Given the description of an element on the screen output the (x, y) to click on. 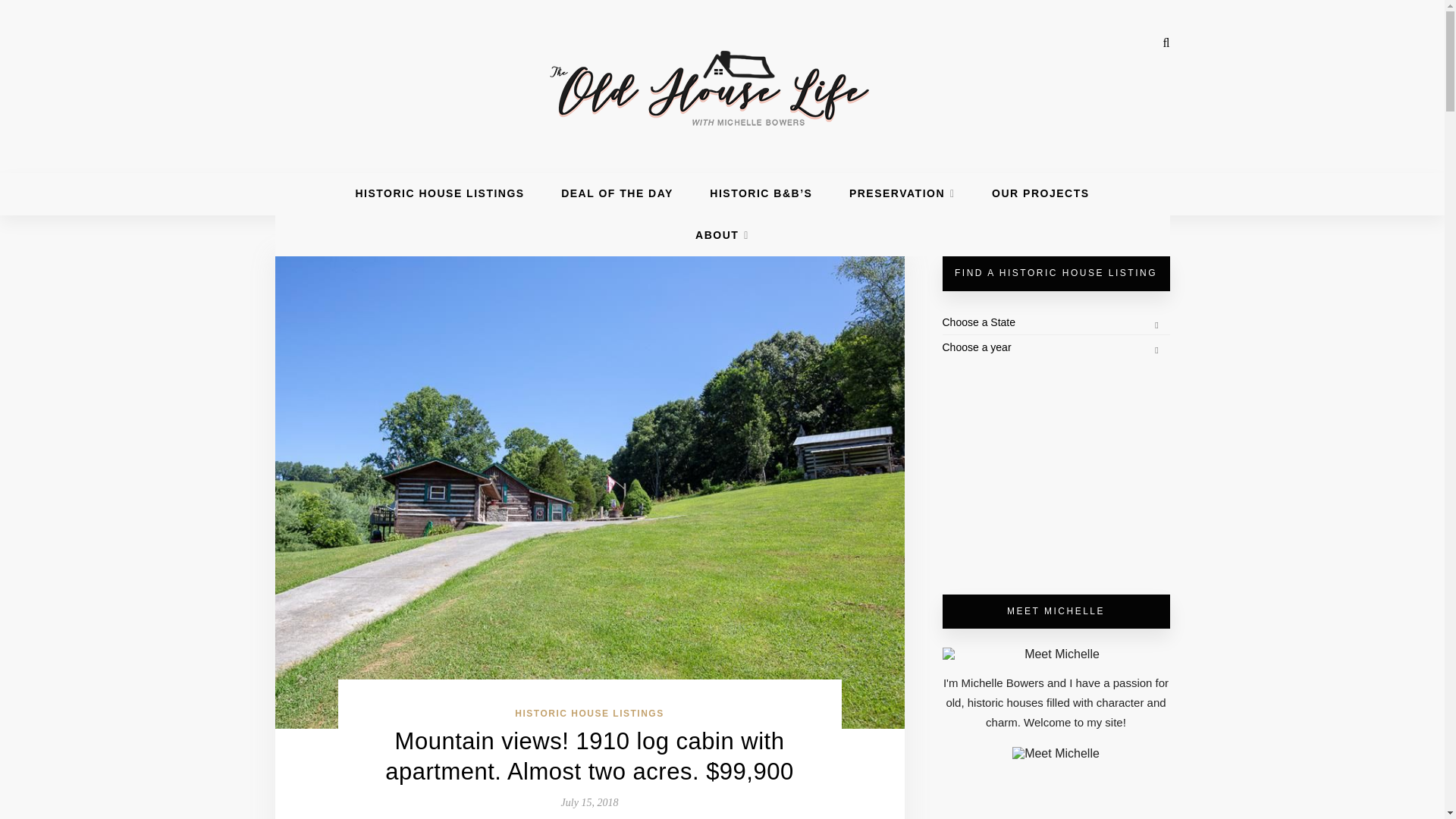
ABOUT (722, 235)
OUR PROJECTS (1040, 192)
HISTORIC HOUSE LISTINGS (589, 713)
July 15, 2018 (589, 802)
PRESERVATION (901, 193)
HISTORIC HOUSE LISTINGS (439, 192)
DEAL OF THE DAY (616, 192)
